Given the description of an element on the screen output the (x, y) to click on. 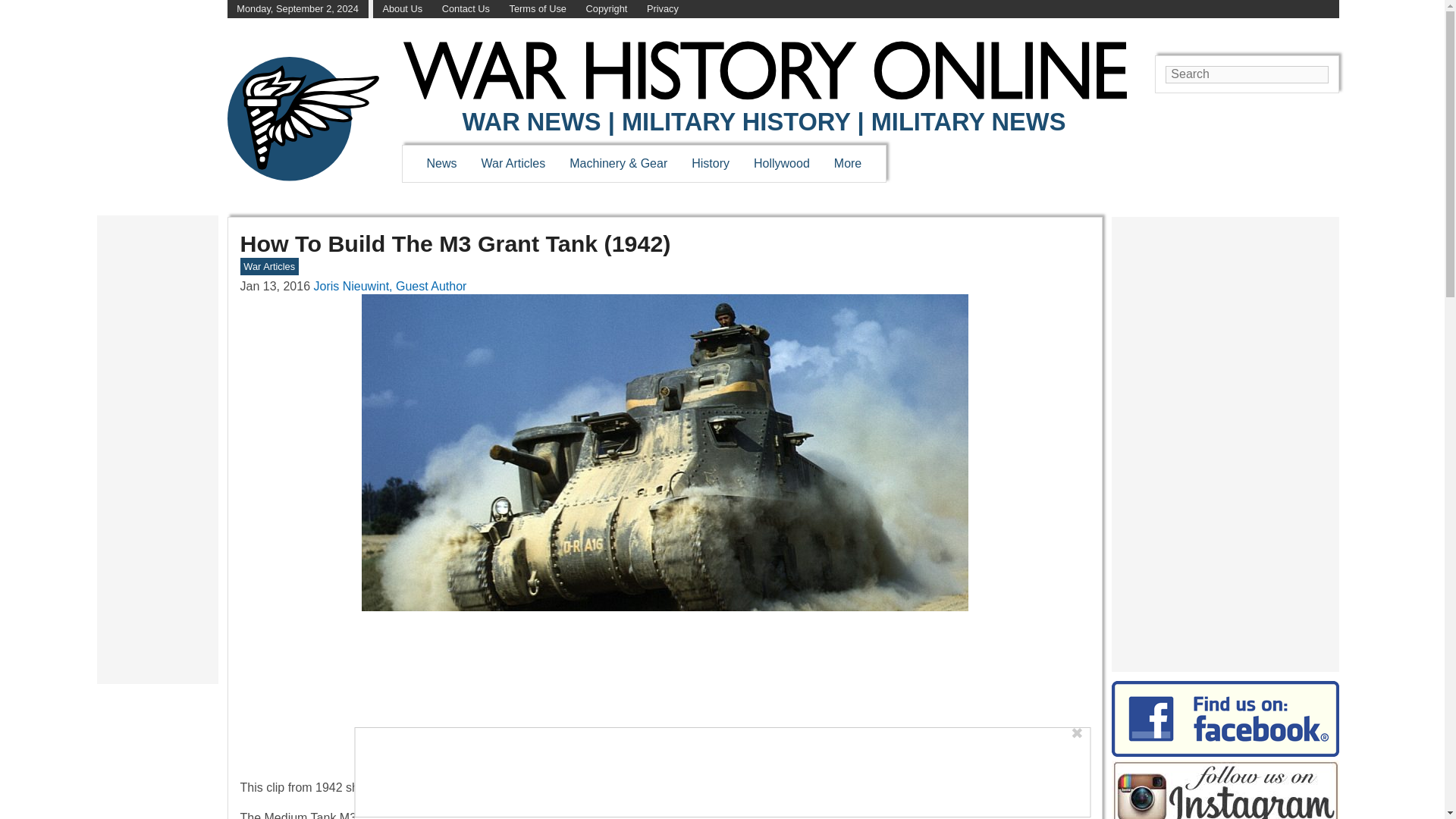
Privacy (662, 8)
Contact Us (465, 8)
War Articles (513, 163)
Copyright (606, 8)
Hollywood (781, 163)
More (847, 163)
News (441, 163)
About Us (401, 8)
Terms of Use (537, 8)
History (710, 163)
